Given the description of an element on the screen output the (x, y) to click on. 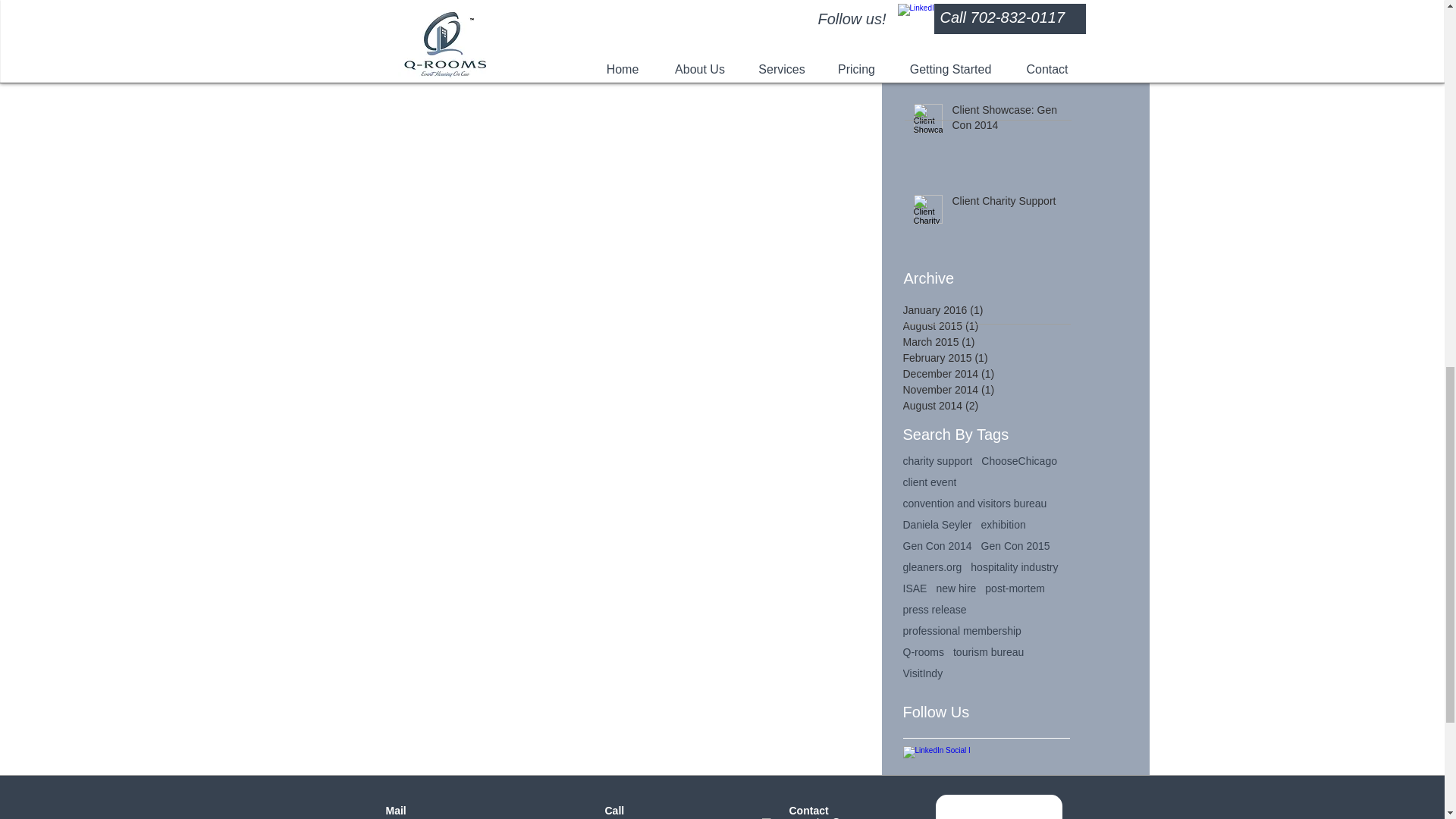
Client Showcase: Gen Con 2014 (1006, 120)
client event (929, 481)
Daniela Seyler (936, 524)
Gen Con 2015 (1015, 545)
ChooseChicago November Partner Showcase (1006, 37)
Client Charity Support (1006, 204)
charity support (937, 460)
convention and visitors bureau (974, 503)
exhibition (1003, 524)
ChooseChicago (1019, 460)
